Given the description of an element on the screen output the (x, y) to click on. 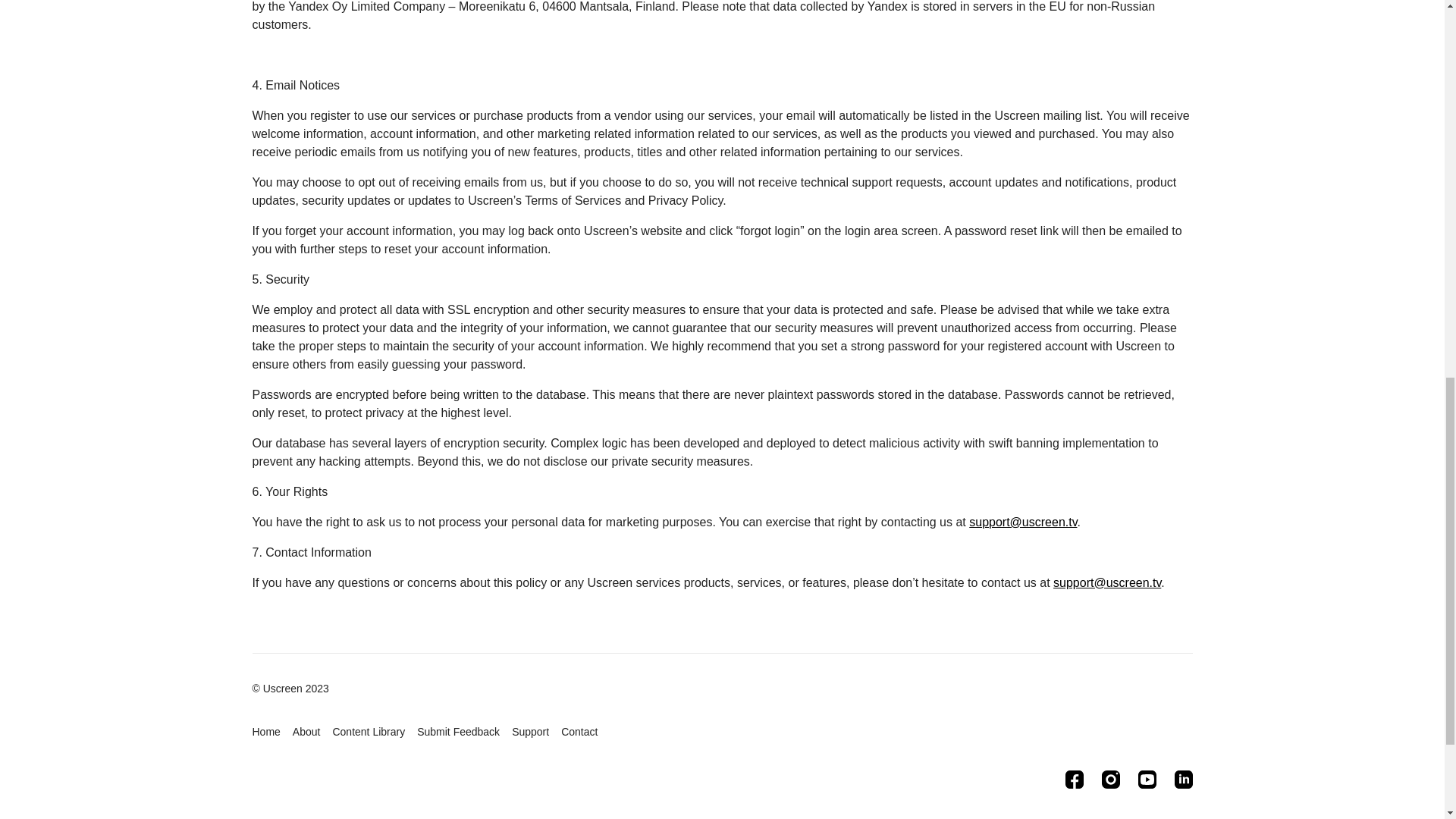
Support (530, 731)
Home (265, 731)
Submit Feedback (457, 731)
About (306, 731)
Contact (578, 731)
Content Library (367, 731)
